Given the description of an element on the screen output the (x, y) to click on. 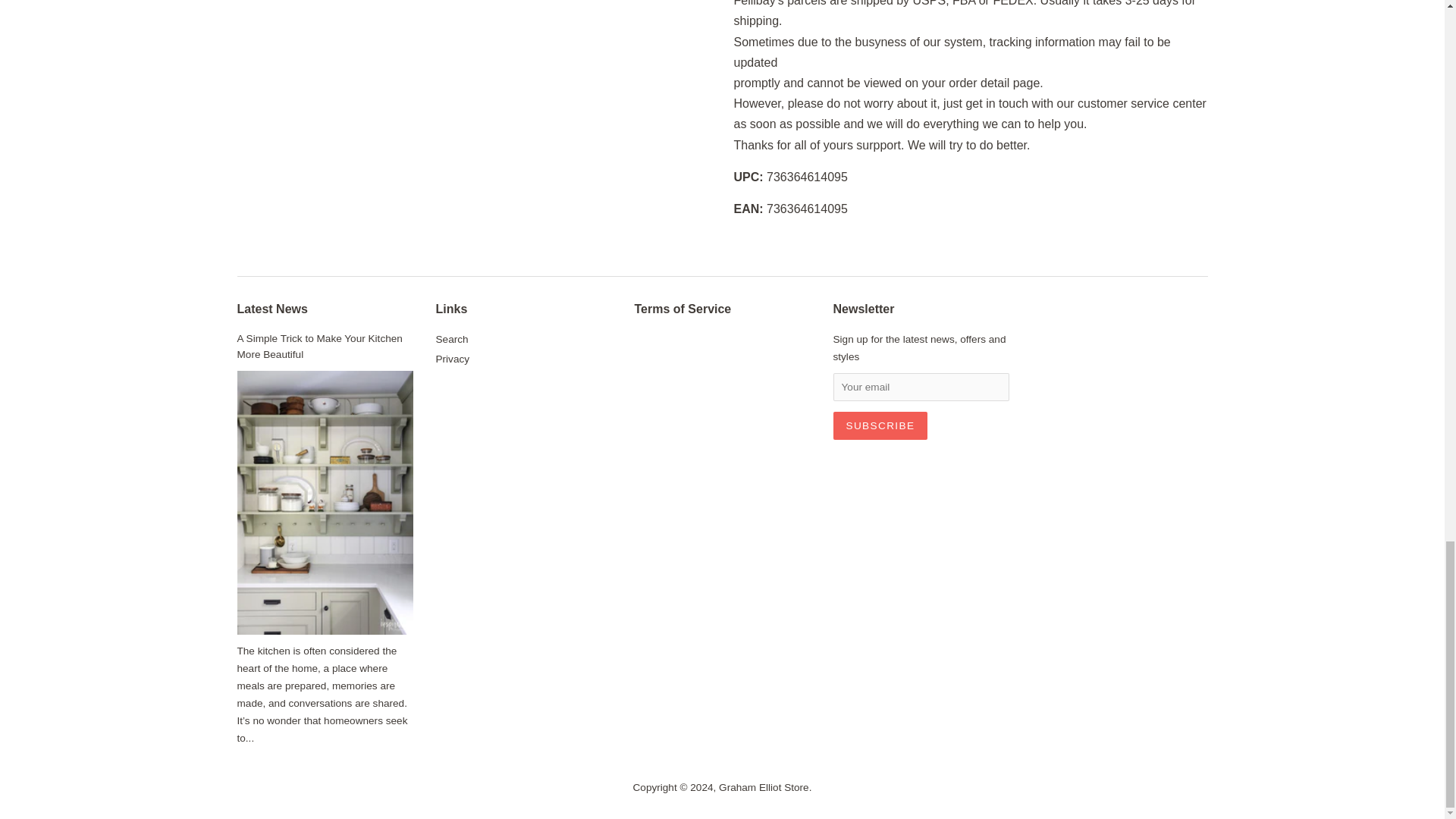
Subscribe (879, 425)
Search (451, 338)
Graham Elliot Store (764, 787)
Privacy (451, 358)
Latest News (271, 308)
A Simple Trick to Make Your Kitchen More Beautiful (318, 346)
Subscribe (879, 425)
